Given the description of an element on the screen output the (x, y) to click on. 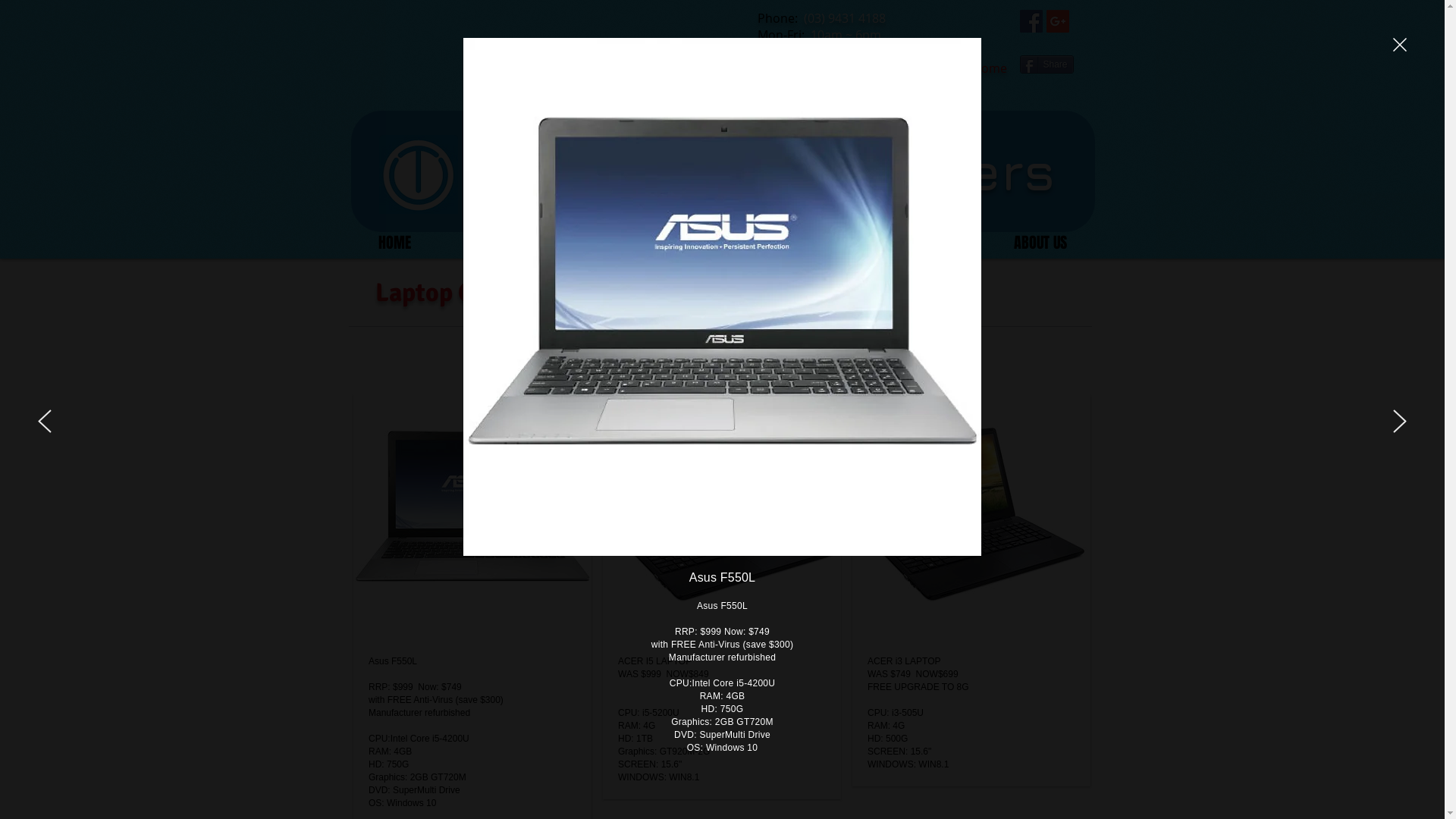
HOME Element type: text (394, 242)
ABOUT US Element type: text (1039, 242)
Desktop Computers Element type: text (621, 242)
CONTACT Element type: text (933, 242)
Share Element type: text (1046, 63)
HANLIN Element type: text (485, 242)
REPAIRS & UPGRADES Element type: text (796, 242)
OneTouch Computers Element type: text (765, 169)
Clip_2_edited.jpg Element type: hover (418, 173)
